Given the description of an element on the screen output the (x, y) to click on. 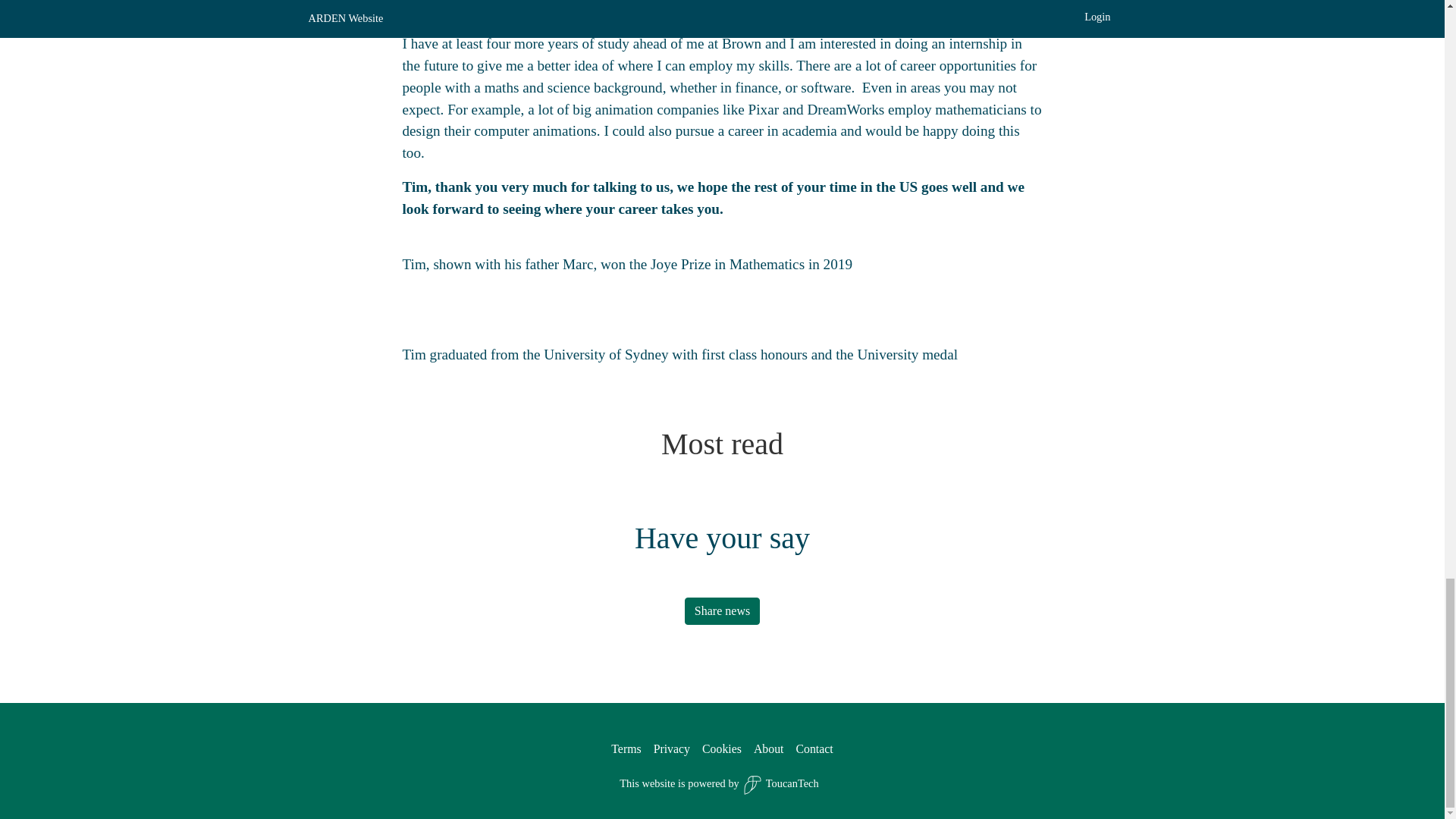
Most read (722, 443)
Privacy (671, 748)
About (769, 748)
Cookies (721, 748)
Terms (625, 748)
